Given the description of an element on the screen output the (x, y) to click on. 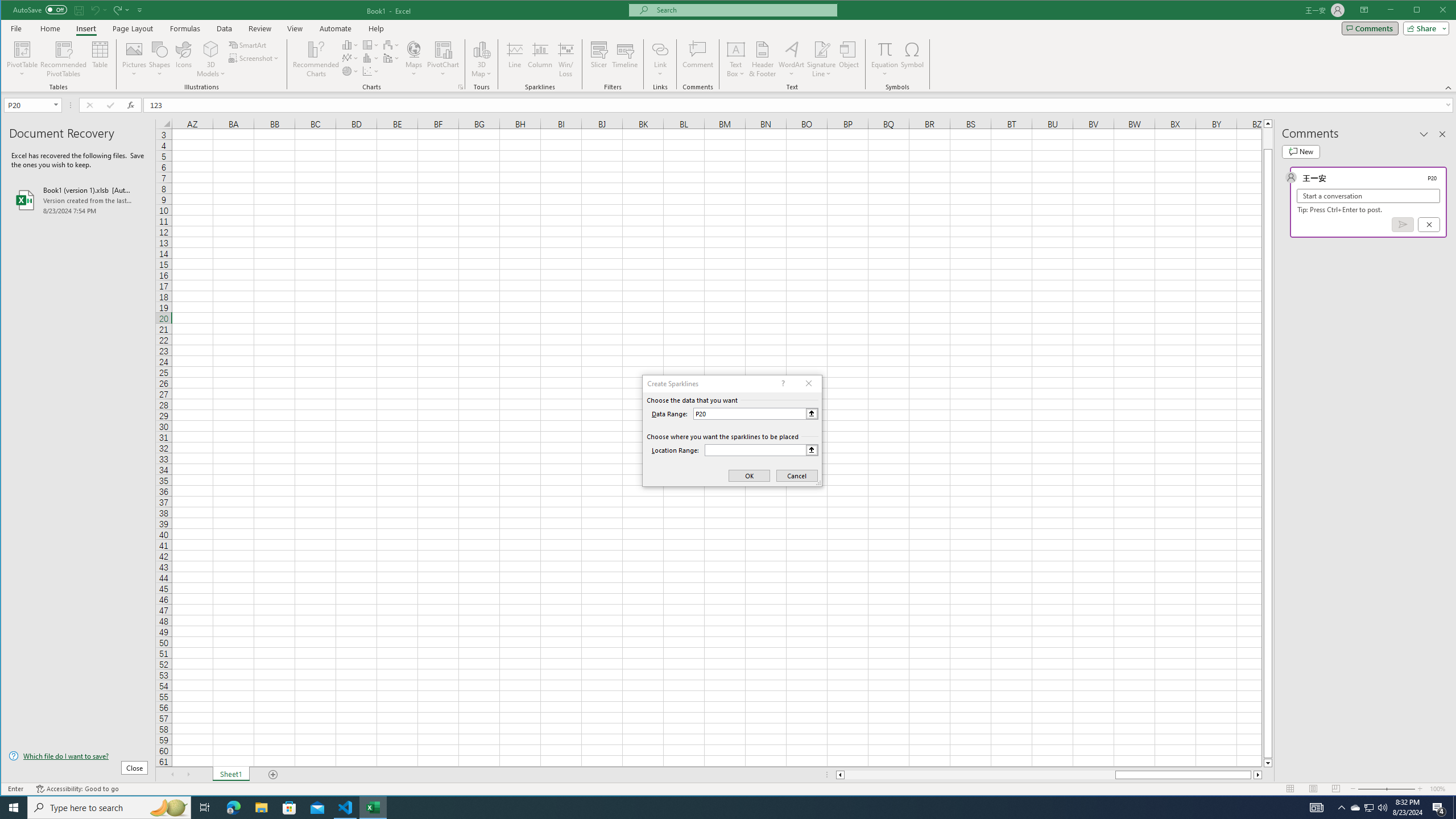
Signature Line (821, 48)
Insert Column or Bar Chart (350, 44)
Line (514, 59)
Pictures (134, 59)
Link (659, 59)
